Given the description of an element on the screen output the (x, y) to click on. 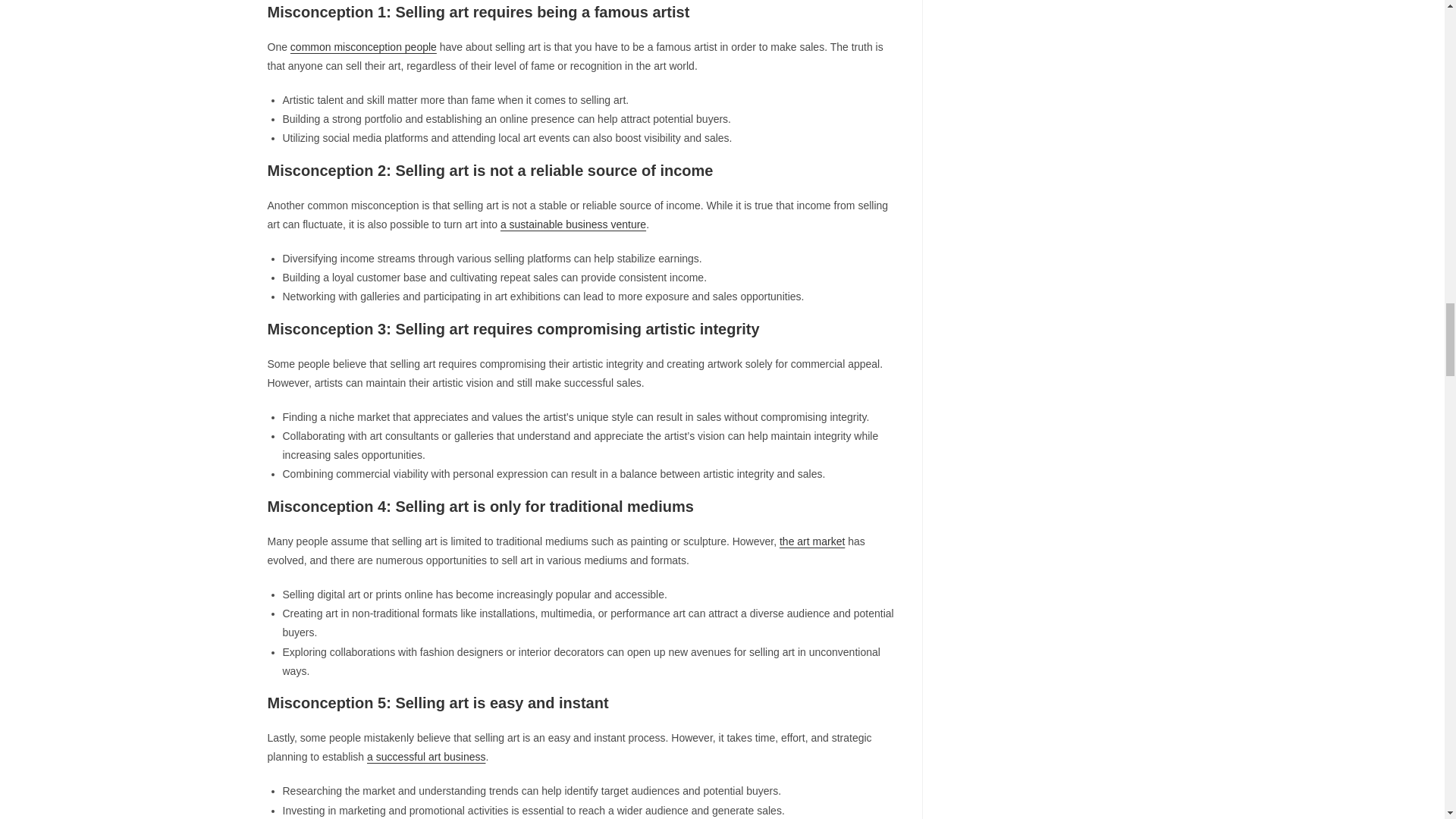
a successful art business (425, 756)
common misconception people (362, 46)
a sustainable business venture (573, 224)
the art market (811, 541)
